Given the description of an element on the screen output the (x, y) to click on. 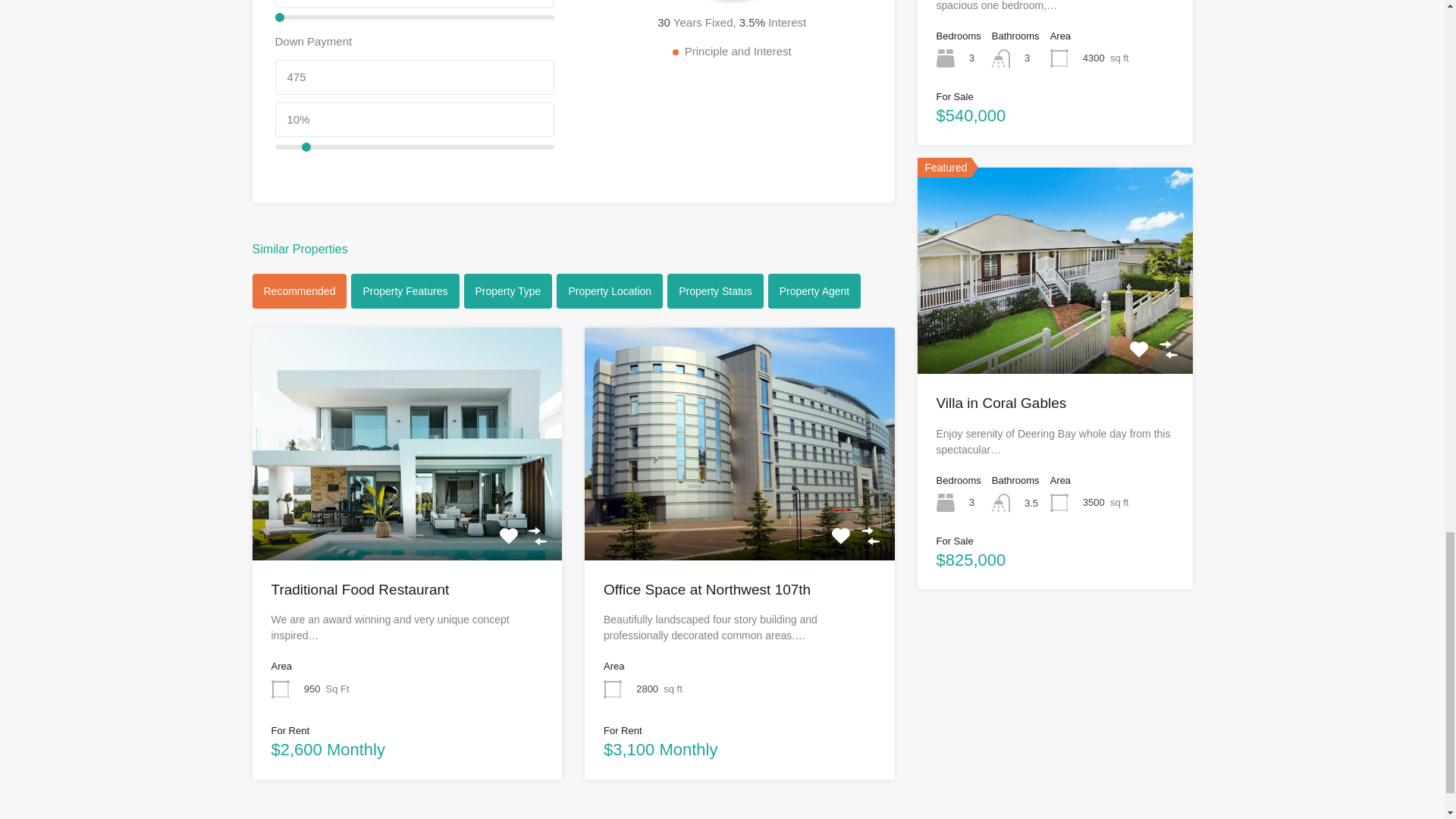
475 (414, 77)
100000 (414, 17)
10 (414, 146)
4750 (414, 3)
